Given the description of an element on the screen output the (x, y) to click on. 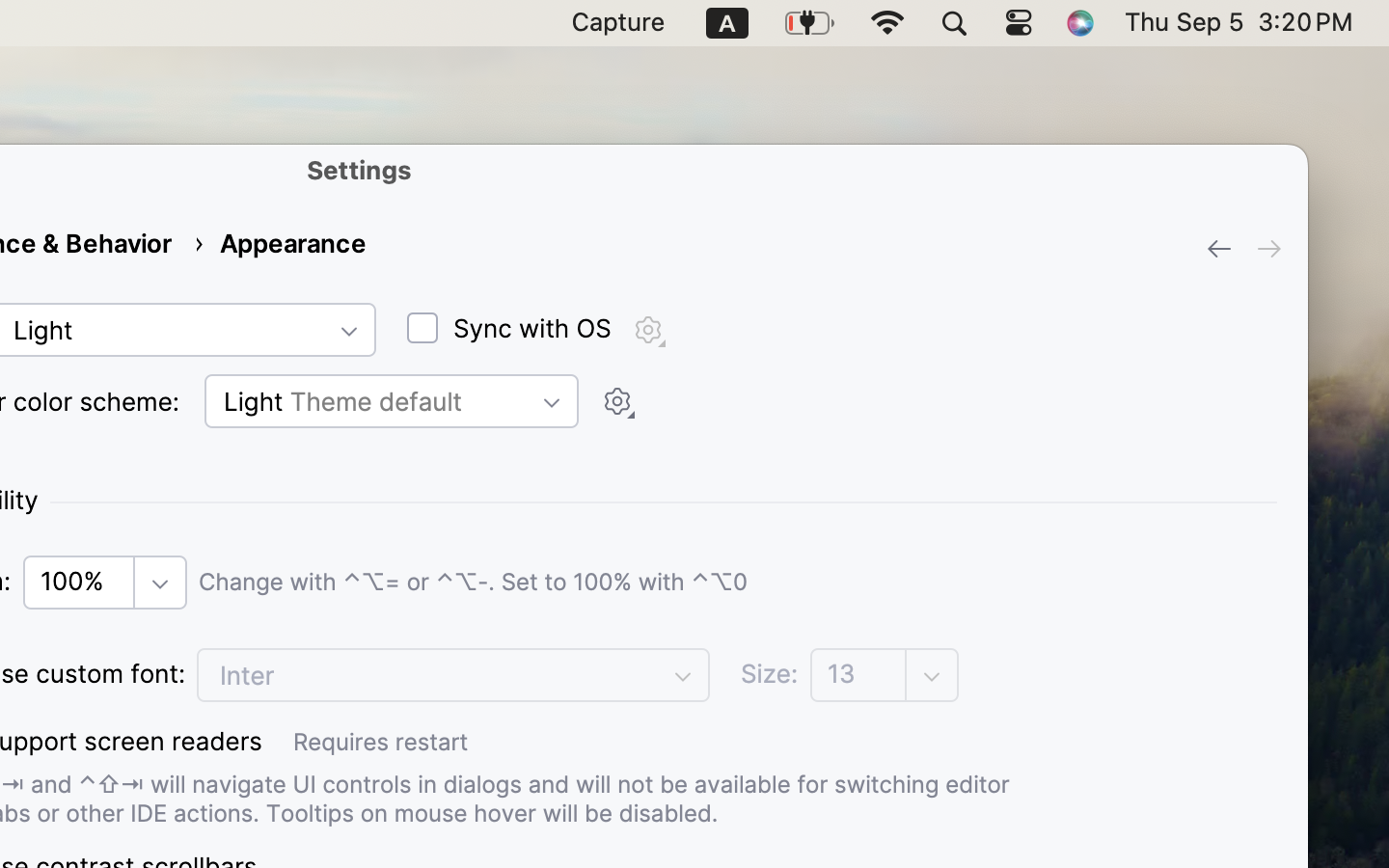
Inter Element type: AXPopUpButton (452, 674)
Requires restart Element type: AXTextField (785, 741)
0 Element type: AXCheckBox (505, 328)
100% Element type: AXTextField (80, 581)
100% Element type: AXComboBox (104, 582)
